Given the description of an element on the screen output the (x, y) to click on. 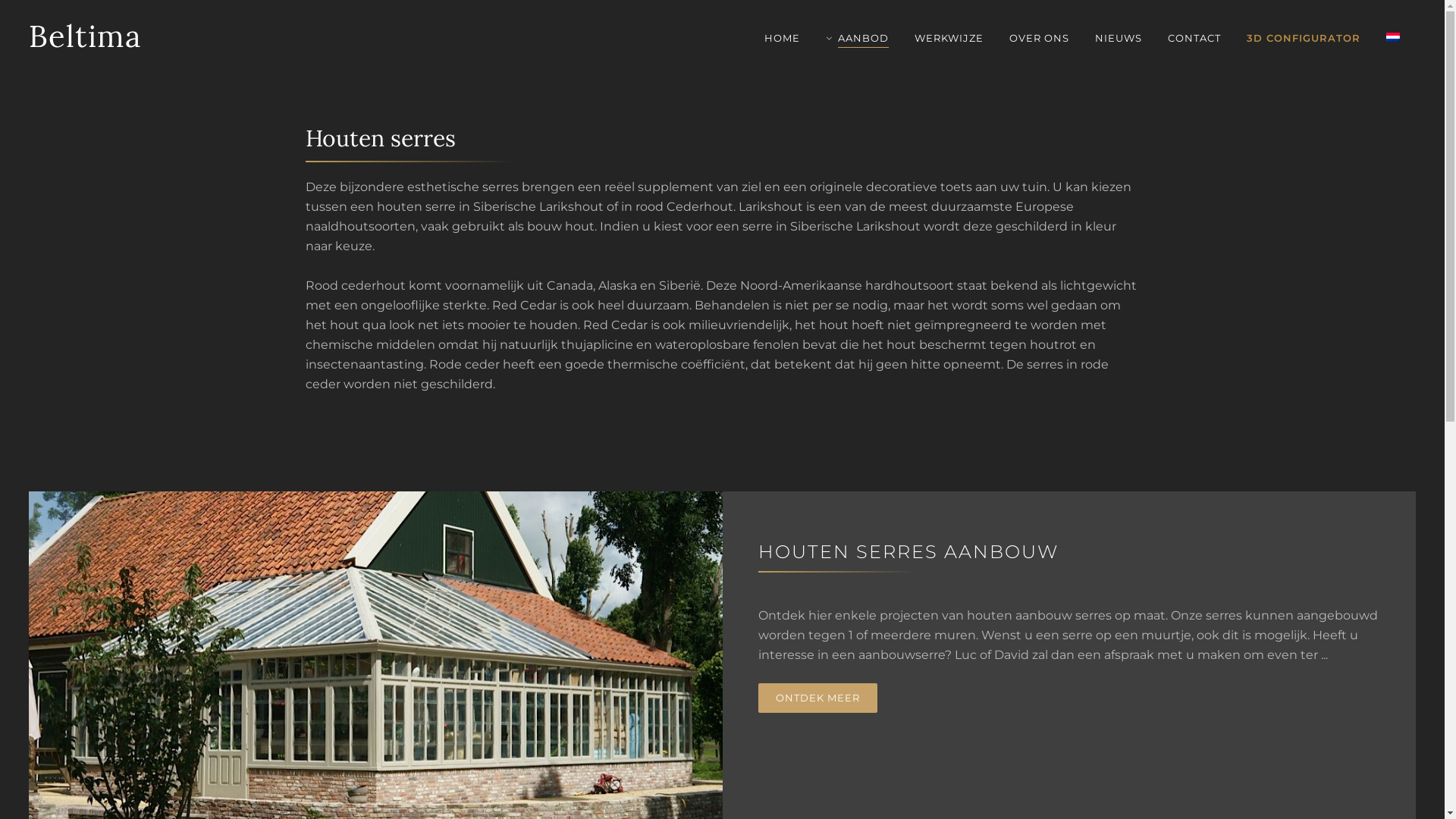
WERKWIJZE Element type: text (948, 37)
OVER ONS Element type: text (1039, 37)
CONTACT Element type: text (1193, 37)
AANBOD Element type: text (856, 37)
HOME Element type: text (781, 37)
HOUTEN SERRES AANBOUW Element type: text (1074, 551)
3D CONFIGURATOR Element type: text (1303, 37)
NIEUWS Element type: text (1118, 37)
ONTDEK MEER Element type: text (817, 697)
